Given the description of an element on the screen output the (x, y) to click on. 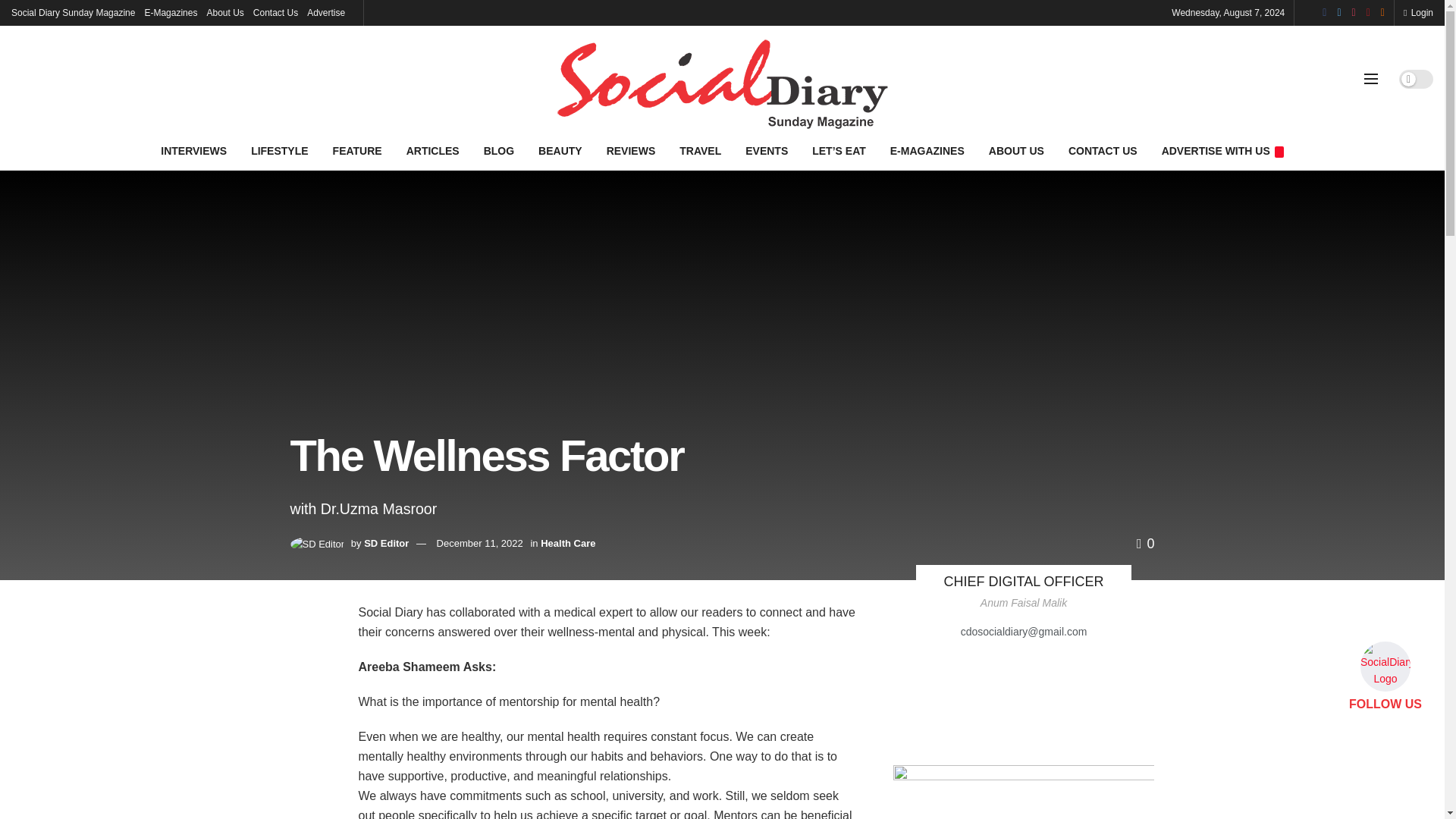
TRAVEL (699, 150)
FEATURE (357, 150)
Advertise (326, 12)
E-Magazines (170, 12)
ADVERTISE WITH US (1222, 150)
CONTACT US (1103, 150)
Login (1417, 12)
ABOUT US (1016, 150)
EVENTS (766, 150)
Social Diary Sunday Magazine (73, 12)
BEAUTY (559, 150)
REVIEWS (631, 150)
BLOG (498, 150)
ARTICLES (432, 150)
Contact Us (275, 12)
